Given the description of an element on the screen output the (x, y) to click on. 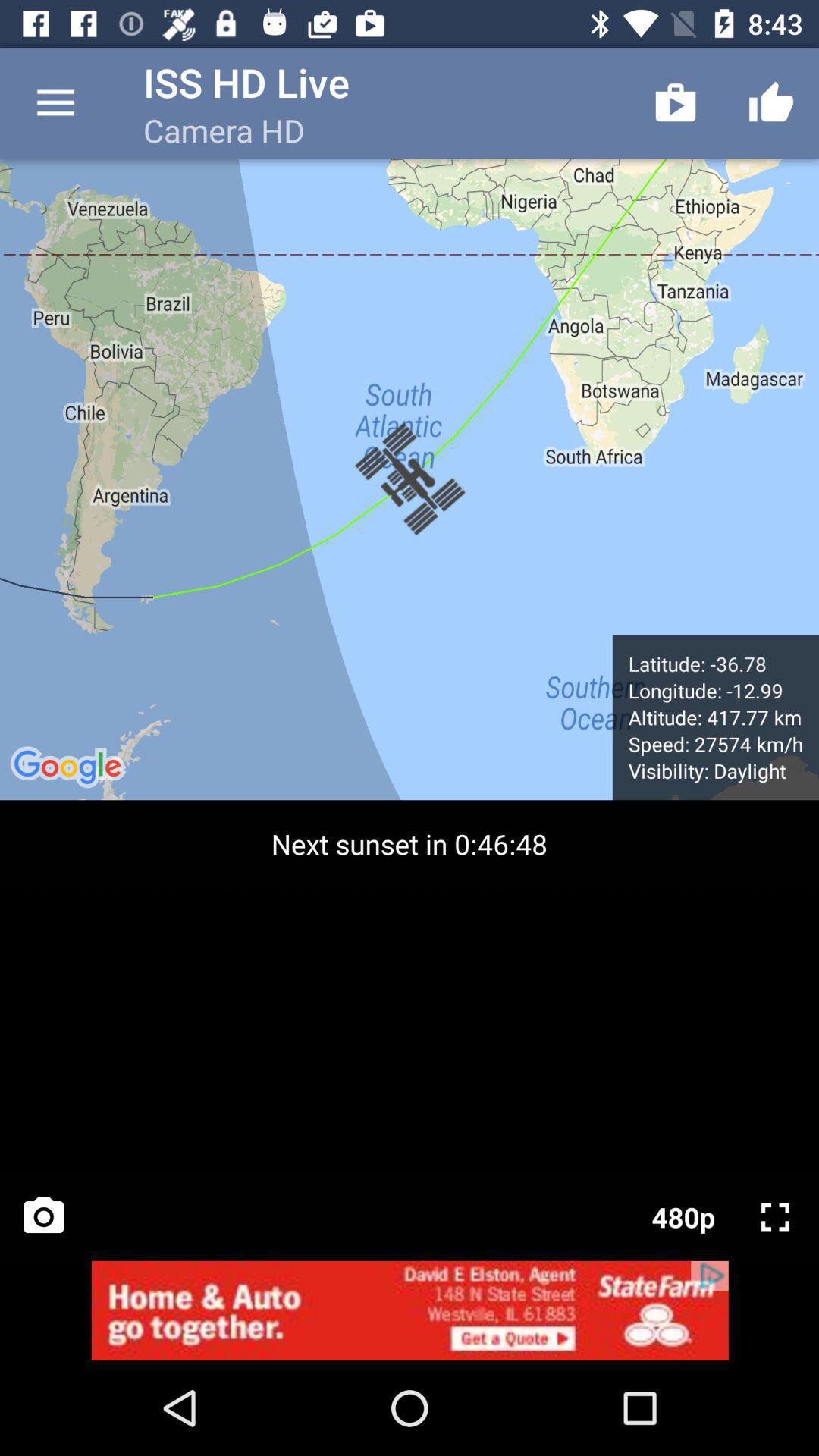
zoom page (775, 1217)
